Given the description of an element on the screen output the (x, y) to click on. 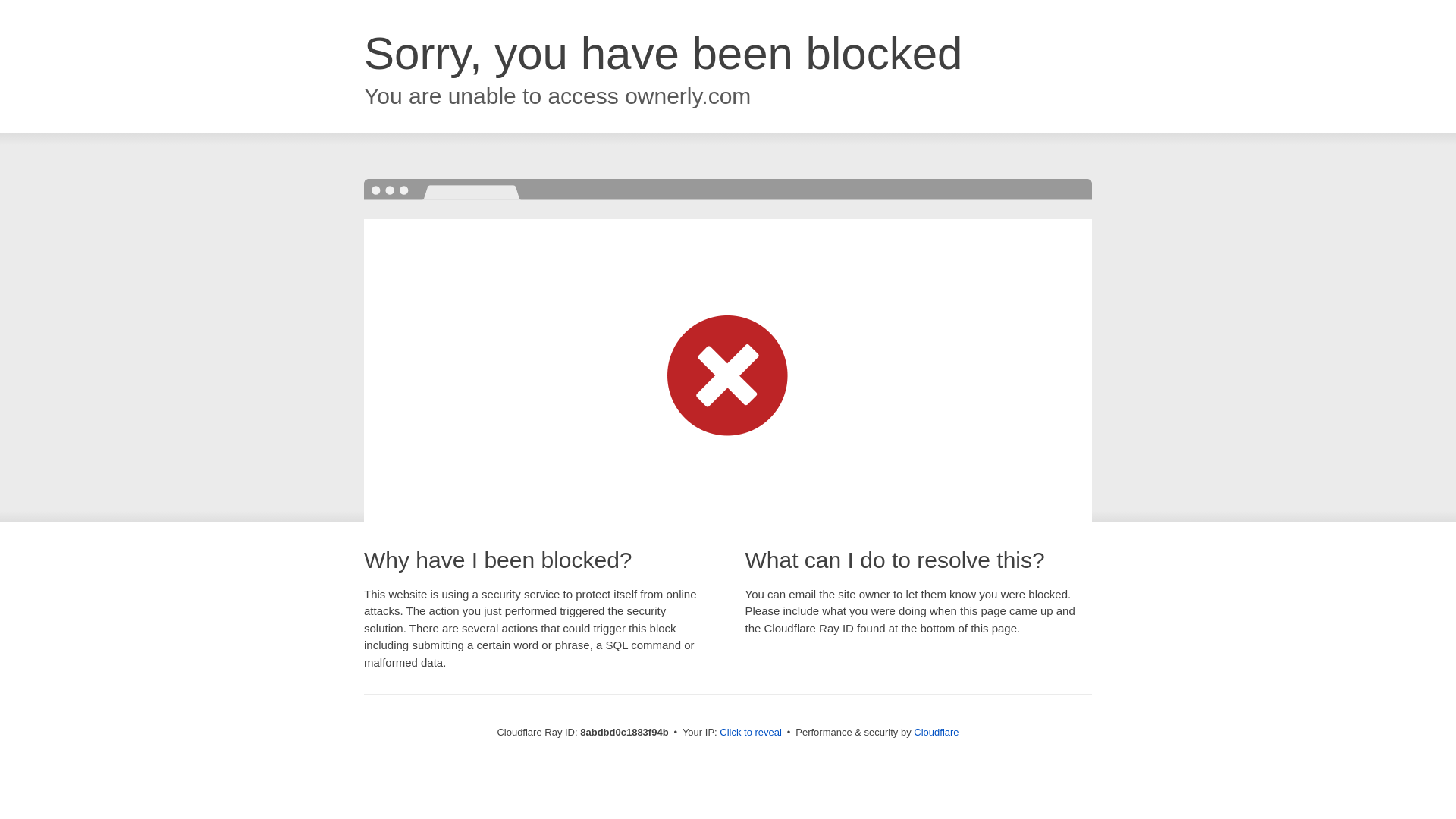
Cloudflare (936, 731)
Click to reveal (750, 732)
